Given the description of an element on the screen output the (x, y) to click on. 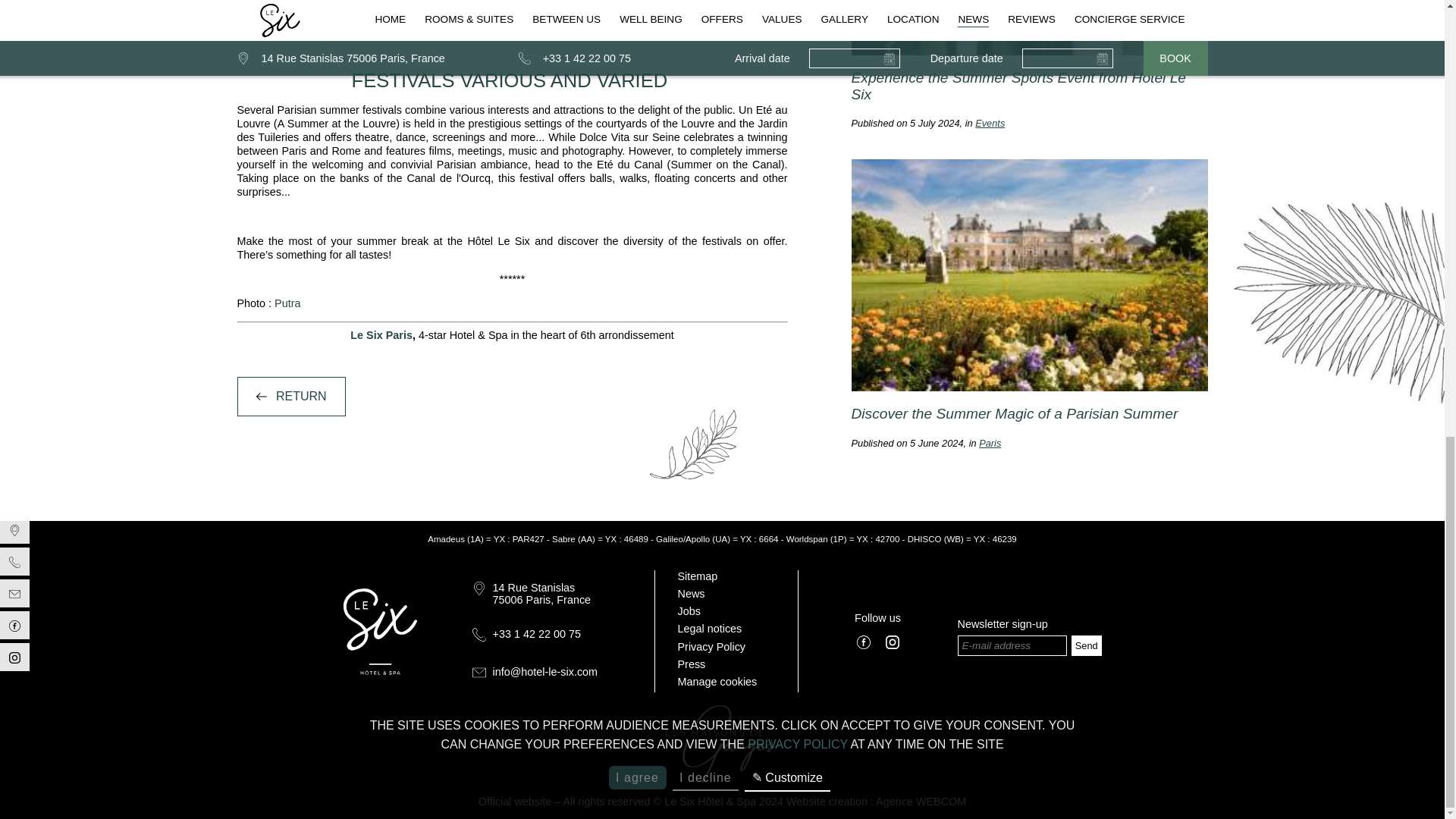
Facebook (862, 643)
Putra (287, 303)
RETURN (290, 396)
Instagram (892, 643)
Le Six Paris (381, 335)
